Given the description of an element on the screen output the (x, y) to click on. 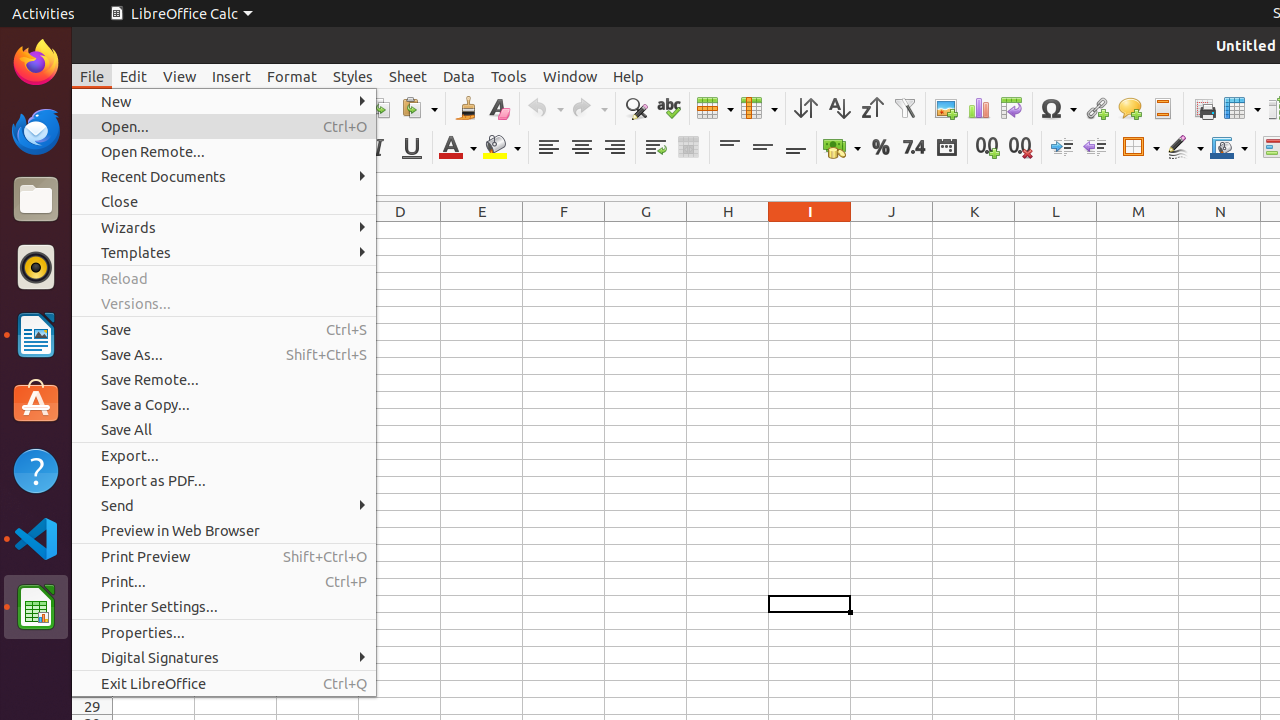
L1 Element type: table-cell (1056, 230)
View Element type: menu (179, 76)
Pivot Table Element type: push-button (1011, 108)
Add Decimal Place Element type: push-button (987, 147)
Find & Replace Element type: toggle-button (635, 108)
